Given the description of an element on the screen output the (x, y) to click on. 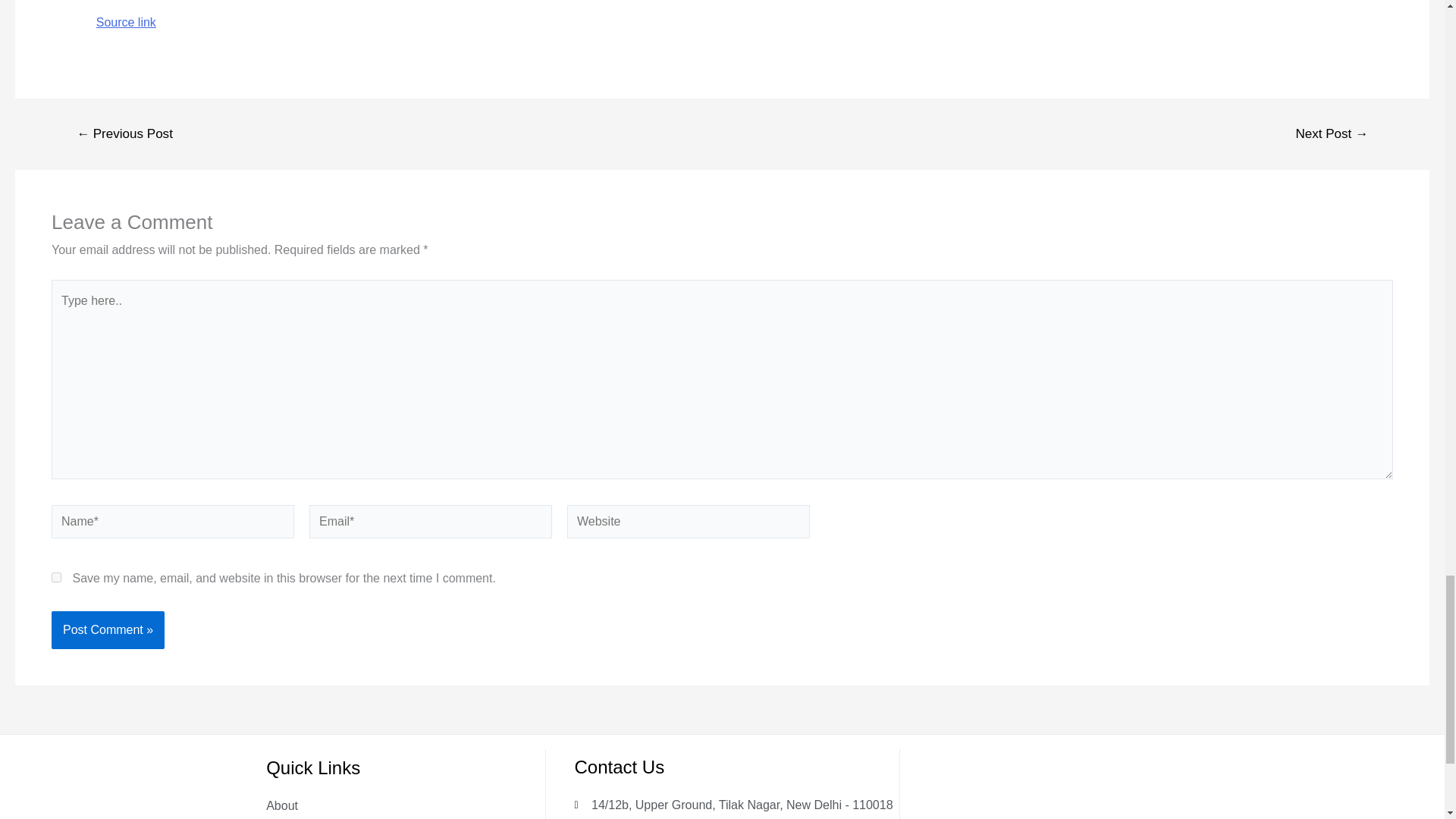
yes (55, 577)
Source link (125, 21)
